Given the description of an element on the screen output the (x, y) to click on. 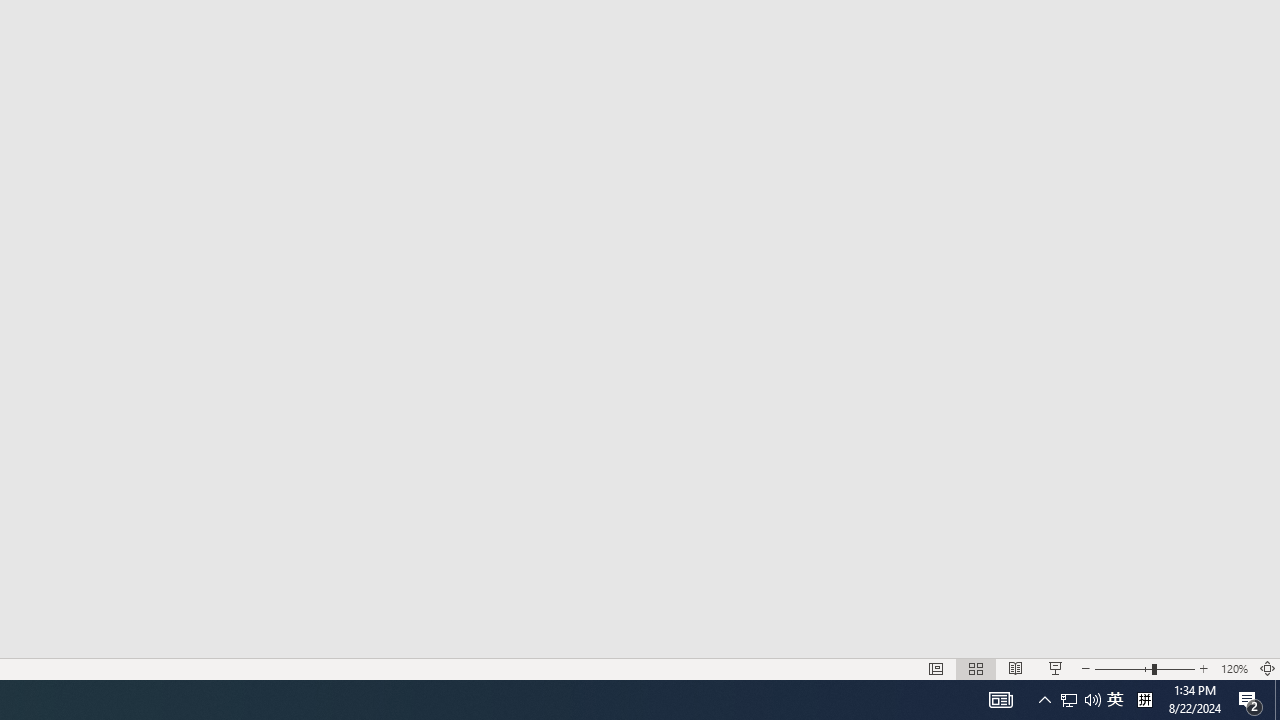
Notification Chevron (1069, 699)
Zoom 120% (1044, 699)
Show desktop (1234, 668)
Tray Input Indicator - Chinese (Simplified, China) (1277, 699)
User Promoted Notification Area (1144, 699)
AutomationID: 4105 (1080, 699)
